Given the description of an element on the screen output the (x, y) to click on. 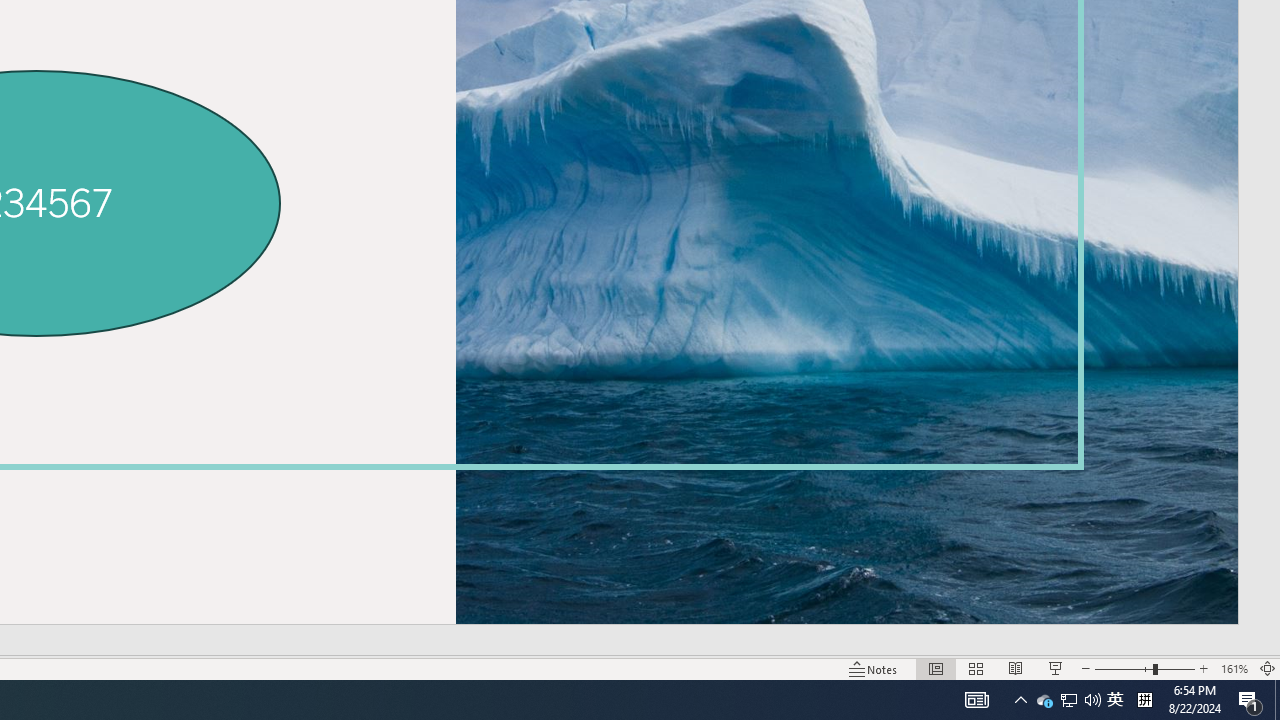
Zoom 161% (1234, 668)
